Given the description of an element on the screen output the (x, y) to click on. 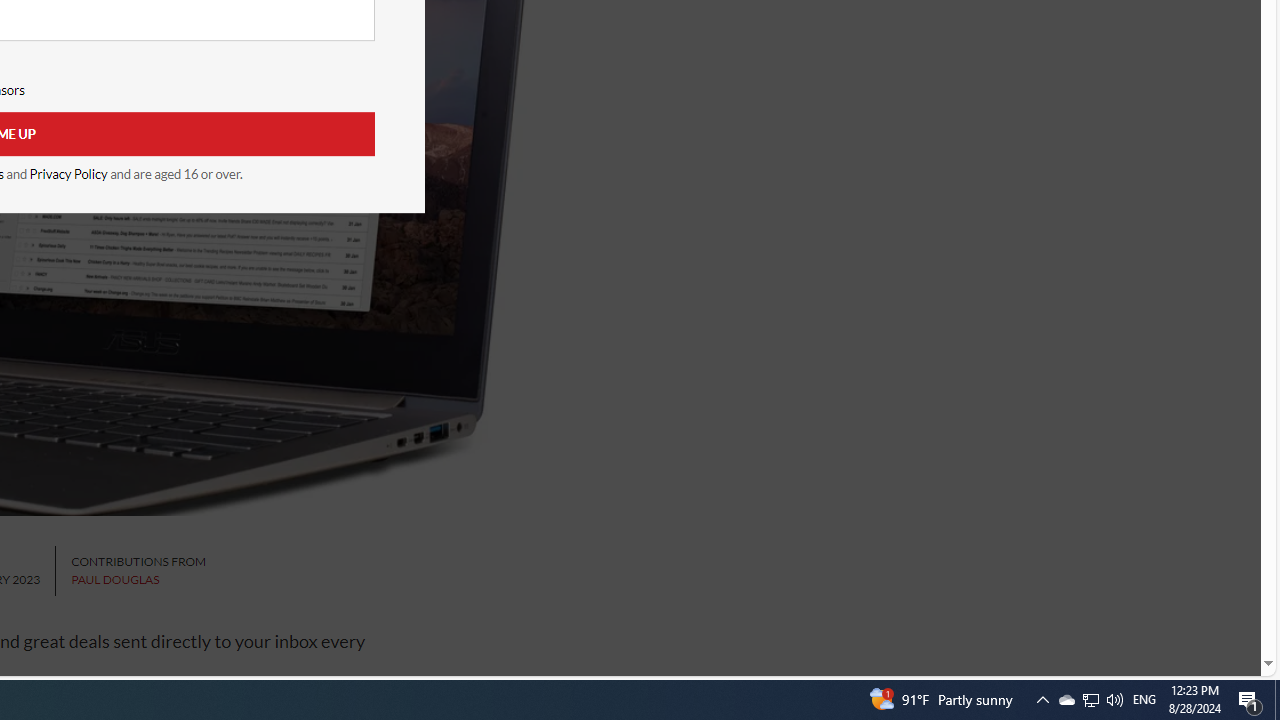
PAUL DOUGLAS (115, 579)
Privacy Policy (68, 174)
